Given the description of an element on the screen output the (x, y) to click on. 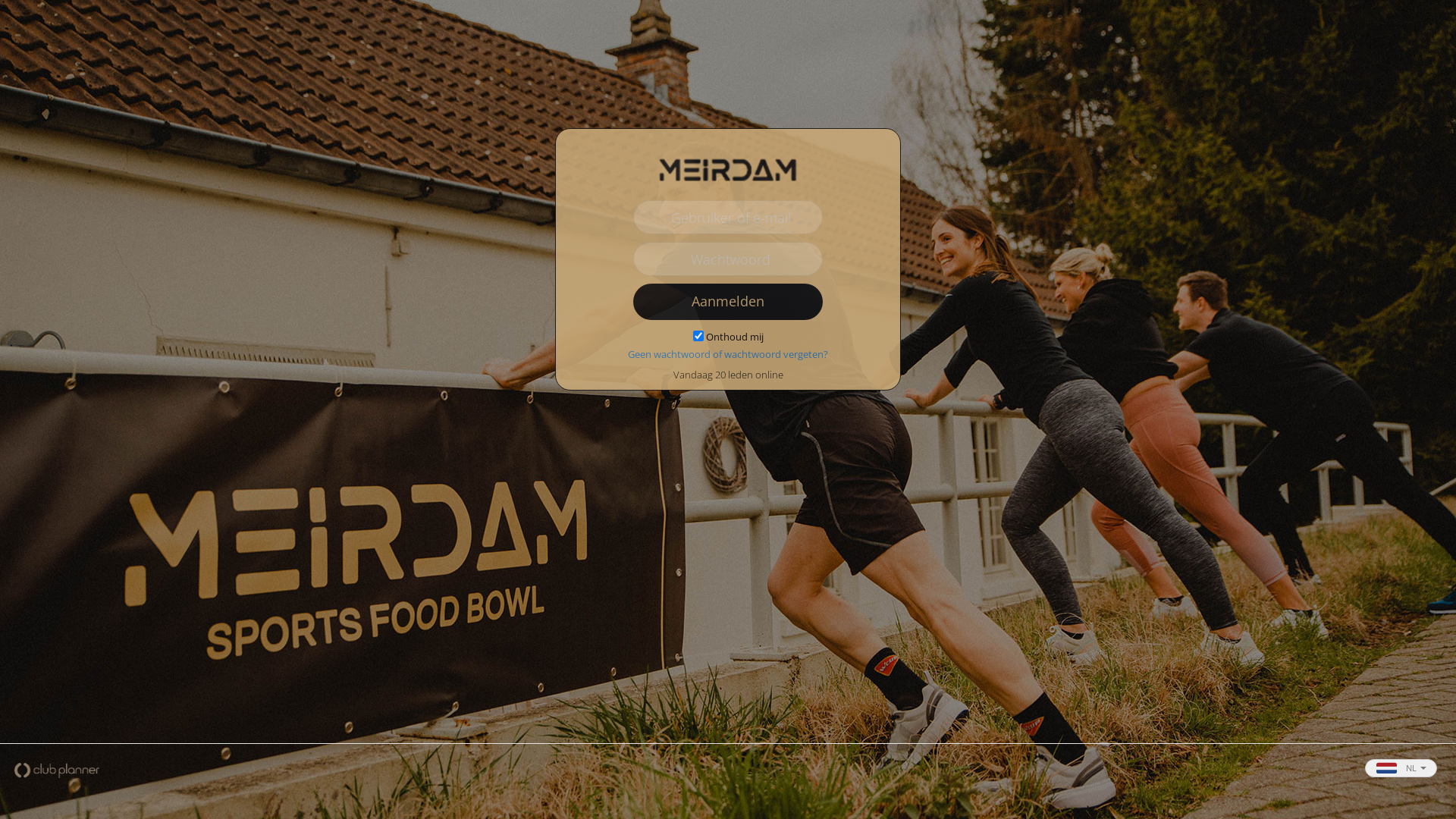
Geen wachtwoord of wachtwoord vergeten? Element type: text (727, 353)
NL Element type: text (1401, 768)
Aanmelden Element type: text (727, 301)
